Given the description of an element on the screen output the (x, y) to click on. 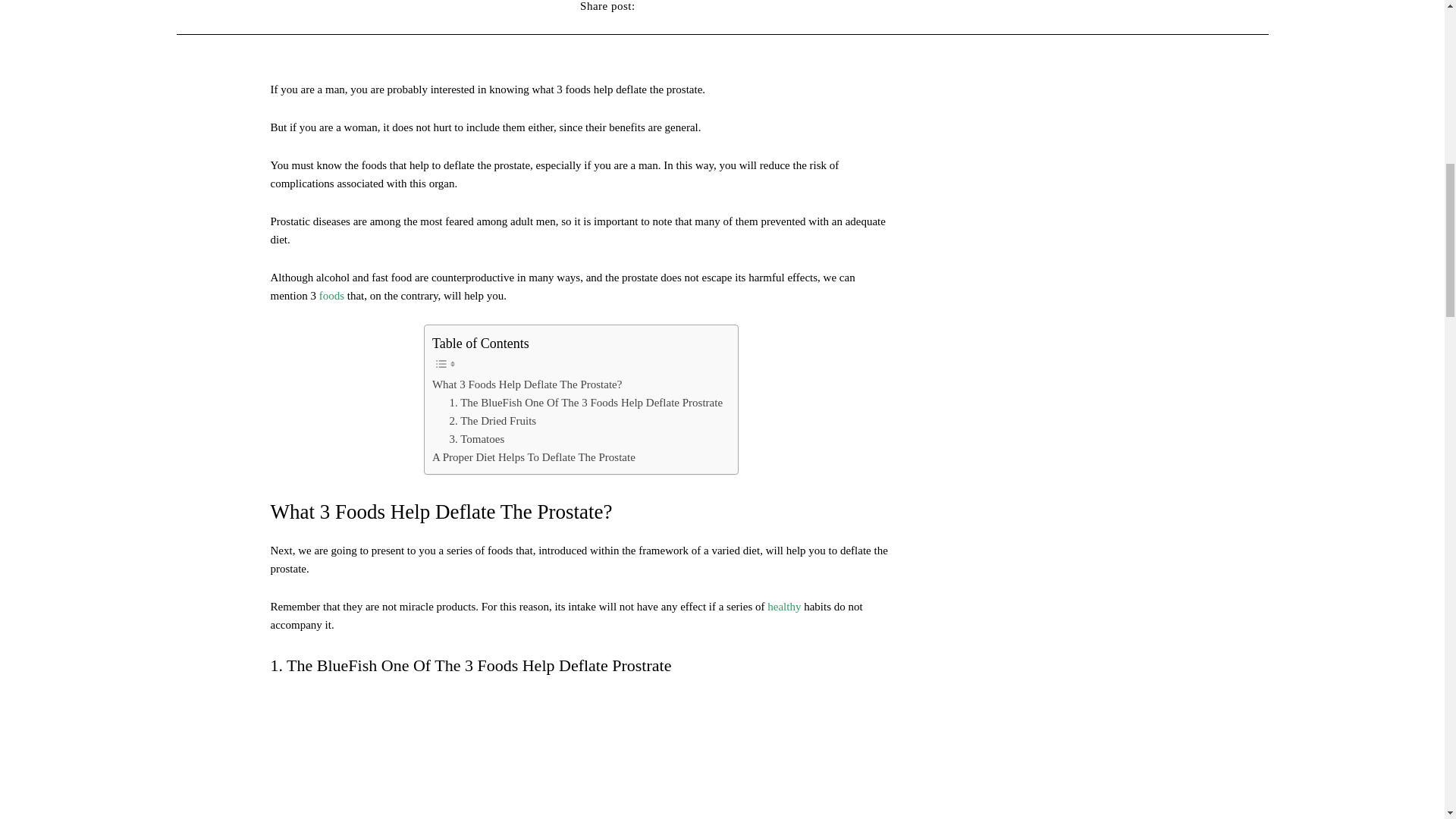
2. The Dried Fruits (491, 420)
1. The BlueFish One Of The 3 Foods Help Deflate Prostrate (585, 402)
What 3 Foods Help Deflate The Prostate? (527, 384)
